Given the description of an element on the screen output the (x, y) to click on. 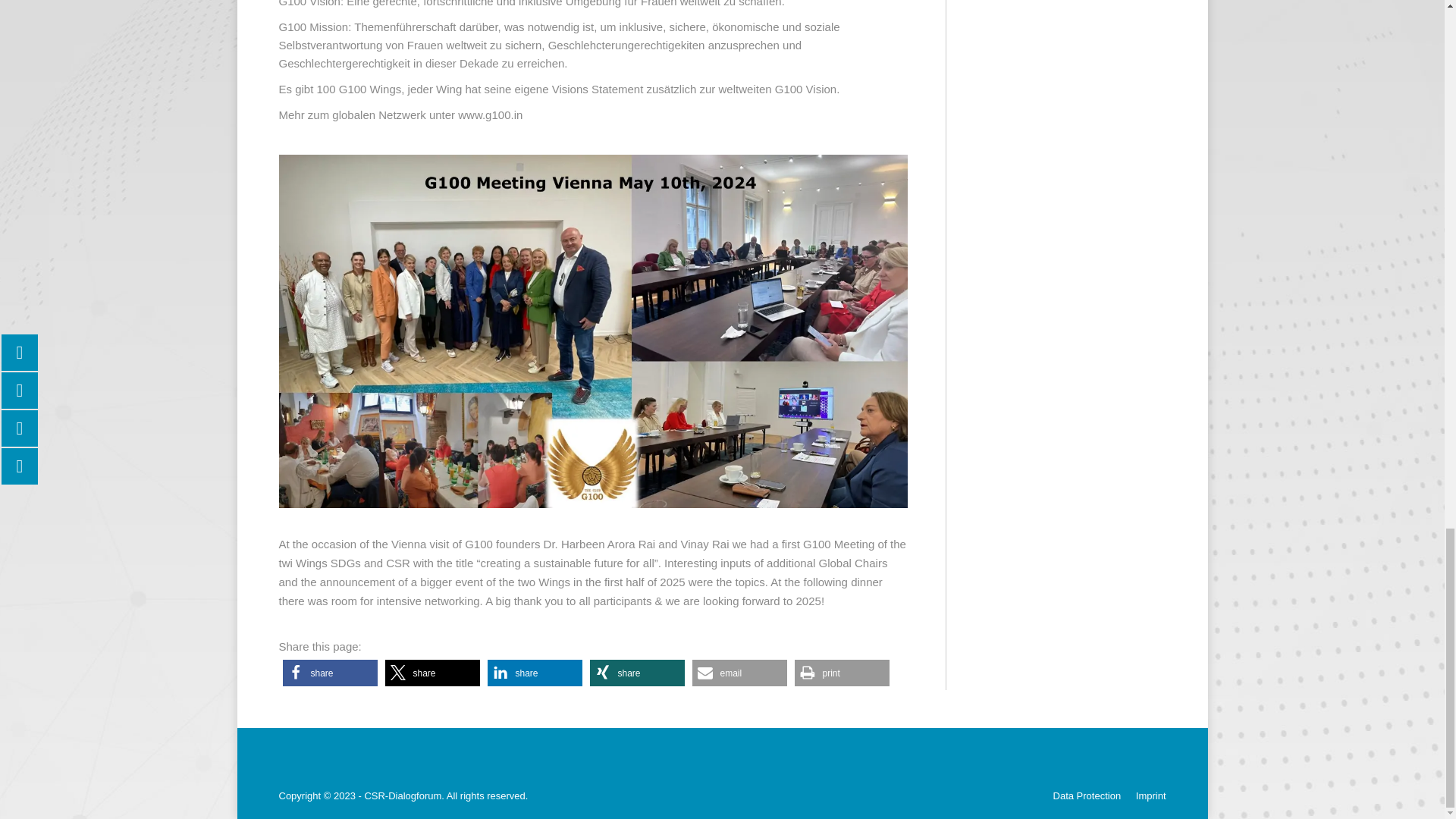
Share on X (432, 673)
Share on Facebook (329, 673)
Share on LinkedIn (533, 673)
